Given the description of an element on the screen output the (x, y) to click on. 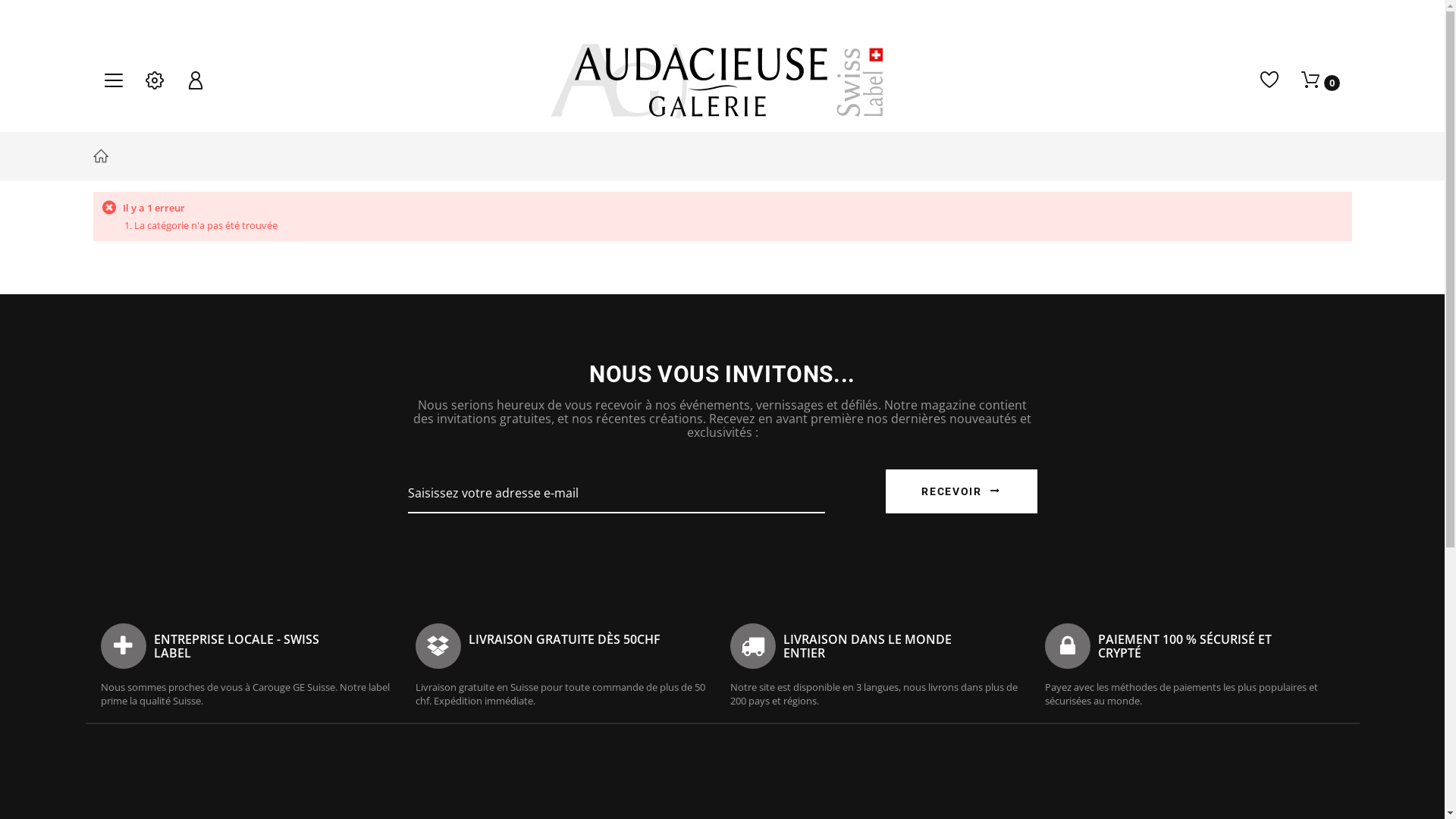
RECEVOIR Element type: text (961, 491)
Mes listes de souhaits Element type: hover (1268, 80)
0 Element type: text (1320, 80)
